Given the description of an element on the screen output the (x, y) to click on. 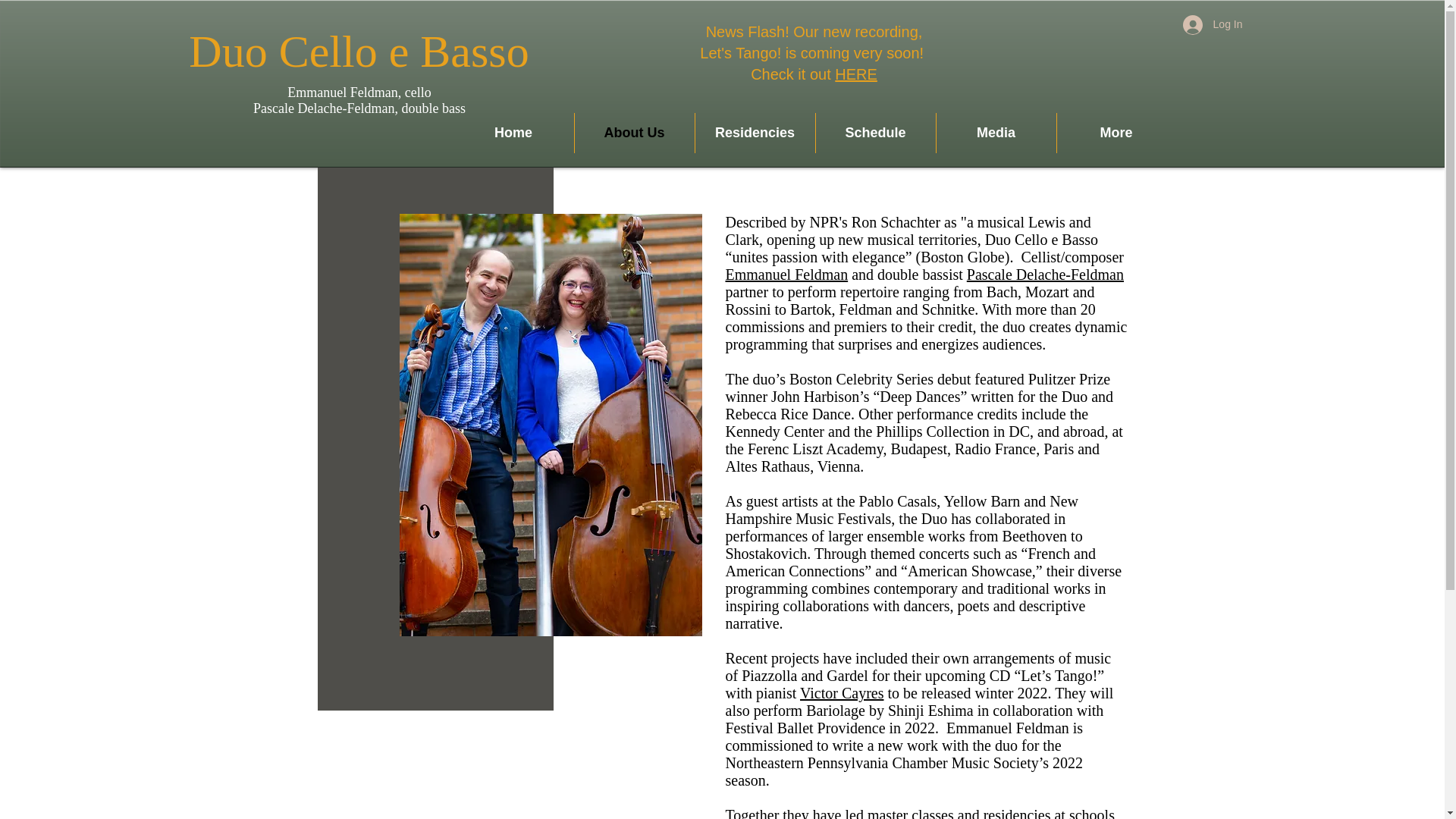
Log In (1212, 24)
Schedule (875, 133)
Media (995, 133)
Emmanuel Feldman (786, 274)
About Us (634, 133)
HERE (855, 74)
Home (512, 133)
Pascale Delache-Feldman (1045, 274)
Victor Cayres (841, 692)
Residencies (753, 133)
